Given the description of an element on the screen output the (x, y) to click on. 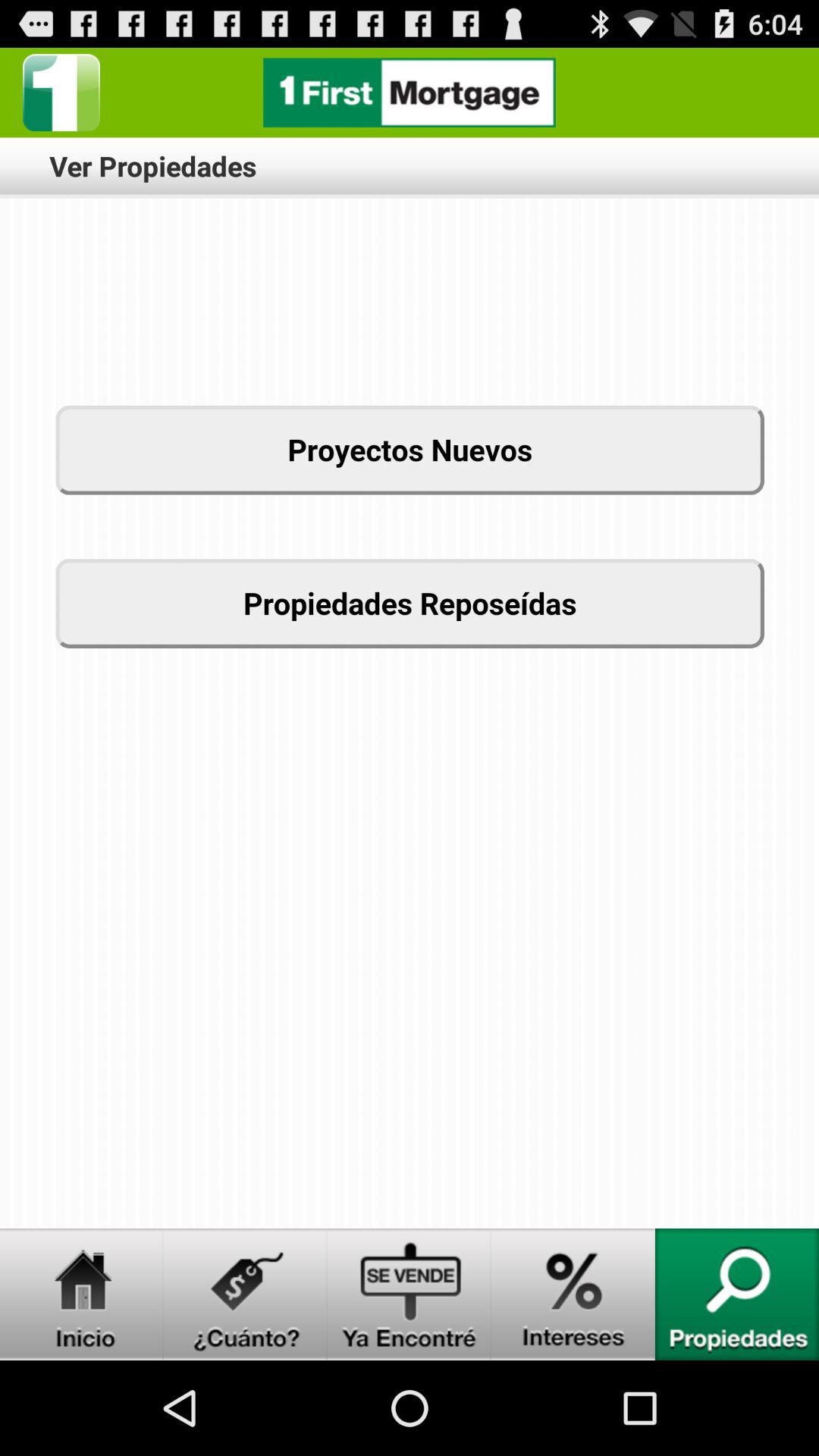
goes home (81, 1294)
